Given the description of an element on the screen output the (x, y) to click on. 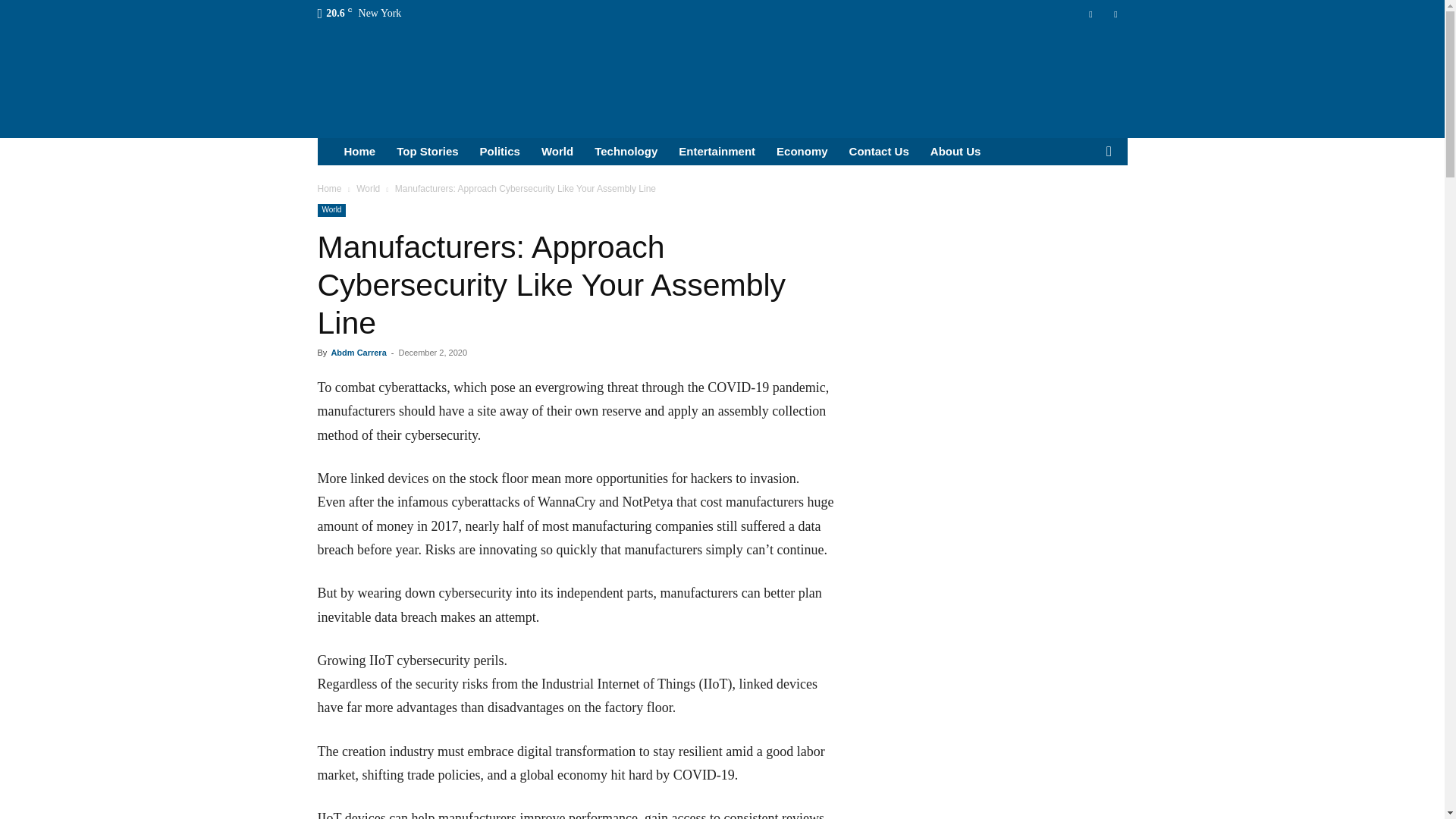
Economy (801, 151)
Abdm Carrera (357, 352)
Home (360, 151)
Technology (625, 151)
Home (328, 188)
World (557, 151)
View all posts in World (368, 188)
World (331, 210)
Politics (499, 151)
World (368, 188)
